Given the description of an element on the screen output the (x, y) to click on. 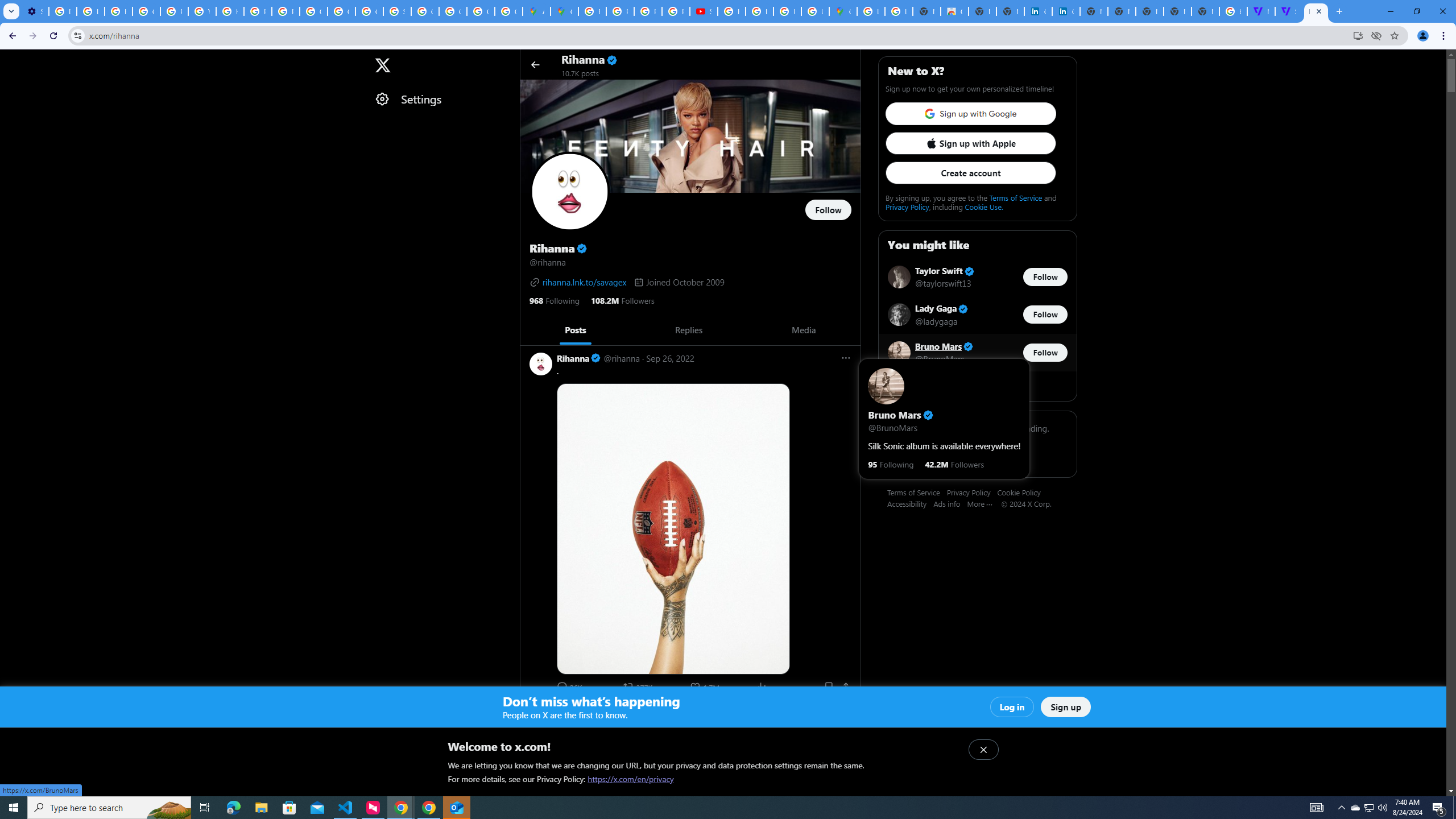
Settings - Customize profile (34, 11)
Follow @ladygaga (1045, 314)
Follow @rihanna (828, 209)
Sign up with Apple (970, 142)
Replies (688, 329)
Cookie Use. (983, 206)
Show more (977, 386)
968 Following (554, 300)
Lady Gaga Verified account (942, 308)
@taylorswift13 (943, 283)
Posts (574, 329)
